Given the description of an element on the screen output the (x, y) to click on. 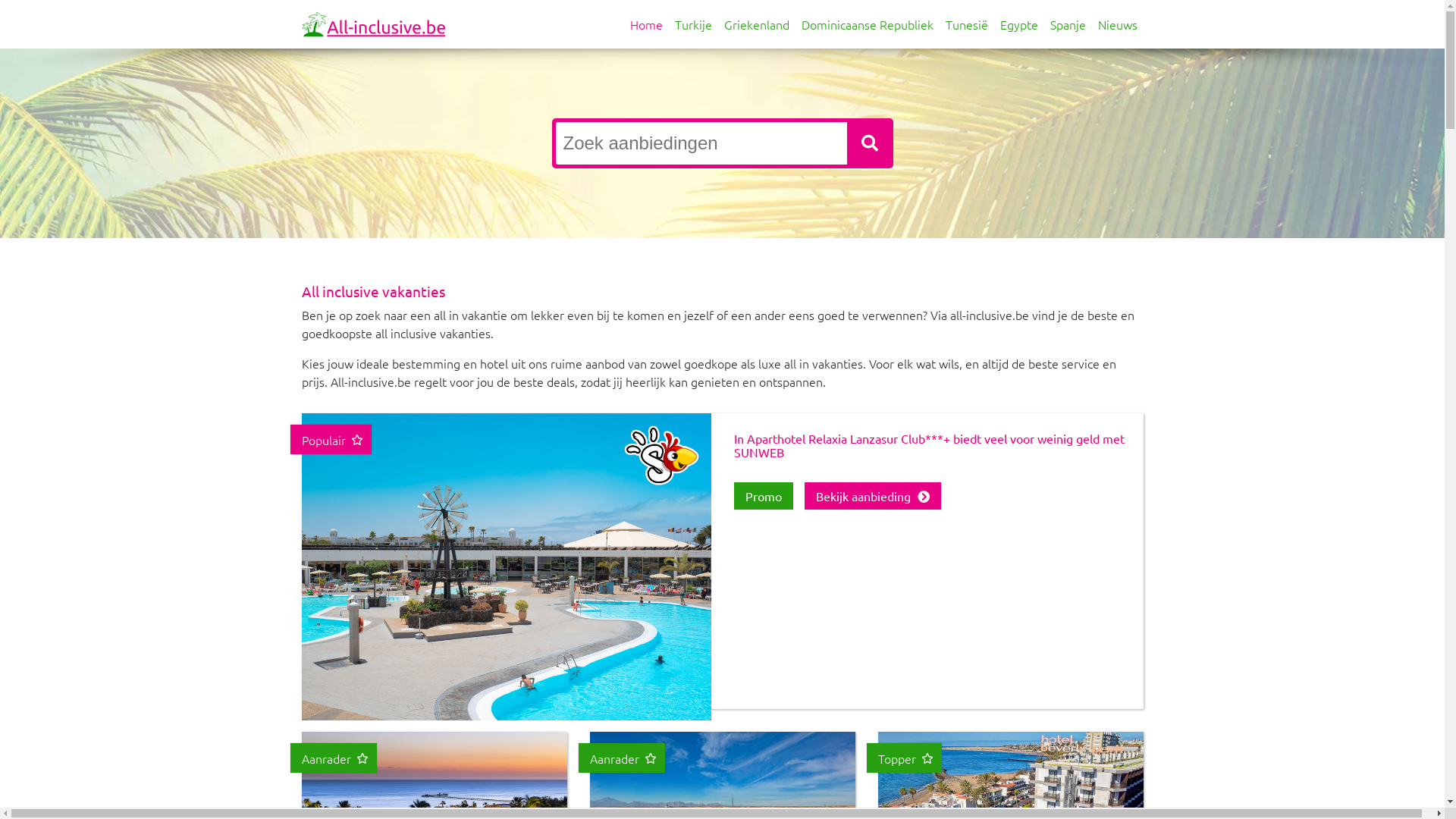
Nieuws Element type: text (1117, 24)
Spanje Element type: text (1067, 24)
Promo Element type: text (763, 495)
Populair Element type: text (506, 632)
Zoek aanbiedingen: Element type: hover (700, 143)
Turkije Element type: text (693, 24)
Bekijk aanbieding Element type: text (871, 495)
Griekenland Element type: text (755, 24)
Dominicaanse Republiek Element type: text (866, 24)
Egypte Element type: text (1018, 24)
Home Element type: text (645, 24)
